Given the description of an element on the screen output the (x, y) to click on. 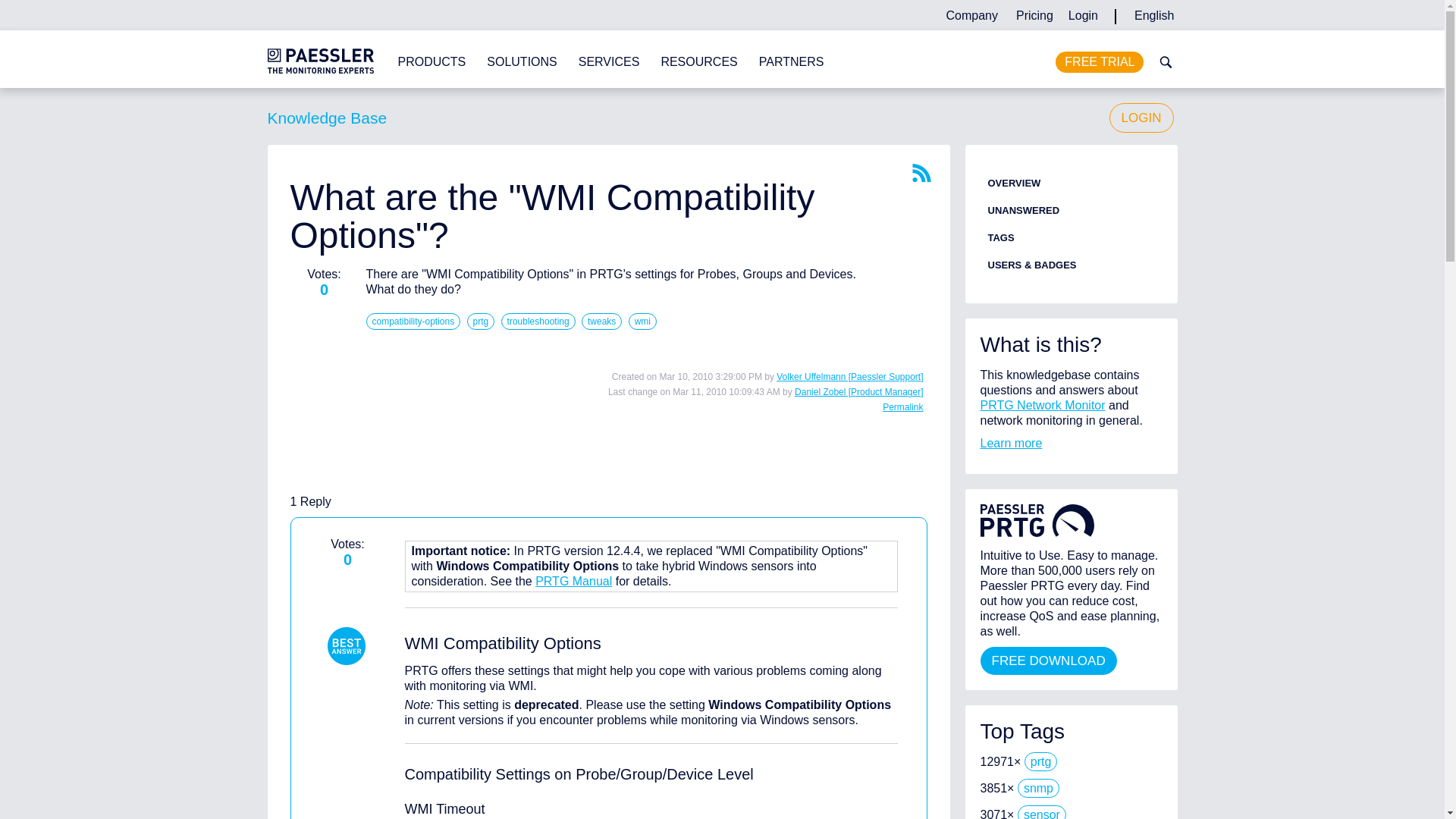
Permalink to this reply (902, 407)
SOLUTIONS (521, 62)
Profile of this user (849, 376)
The feed for this page (921, 172)
PRODUCTS (431, 62)
Pricing (1035, 15)
Profile of this user (858, 391)
Login (1082, 15)
Download PRTG Network Monitor trial edition (1098, 61)
English (1153, 15)
